Given the description of an element on the screen output the (x, y) to click on. 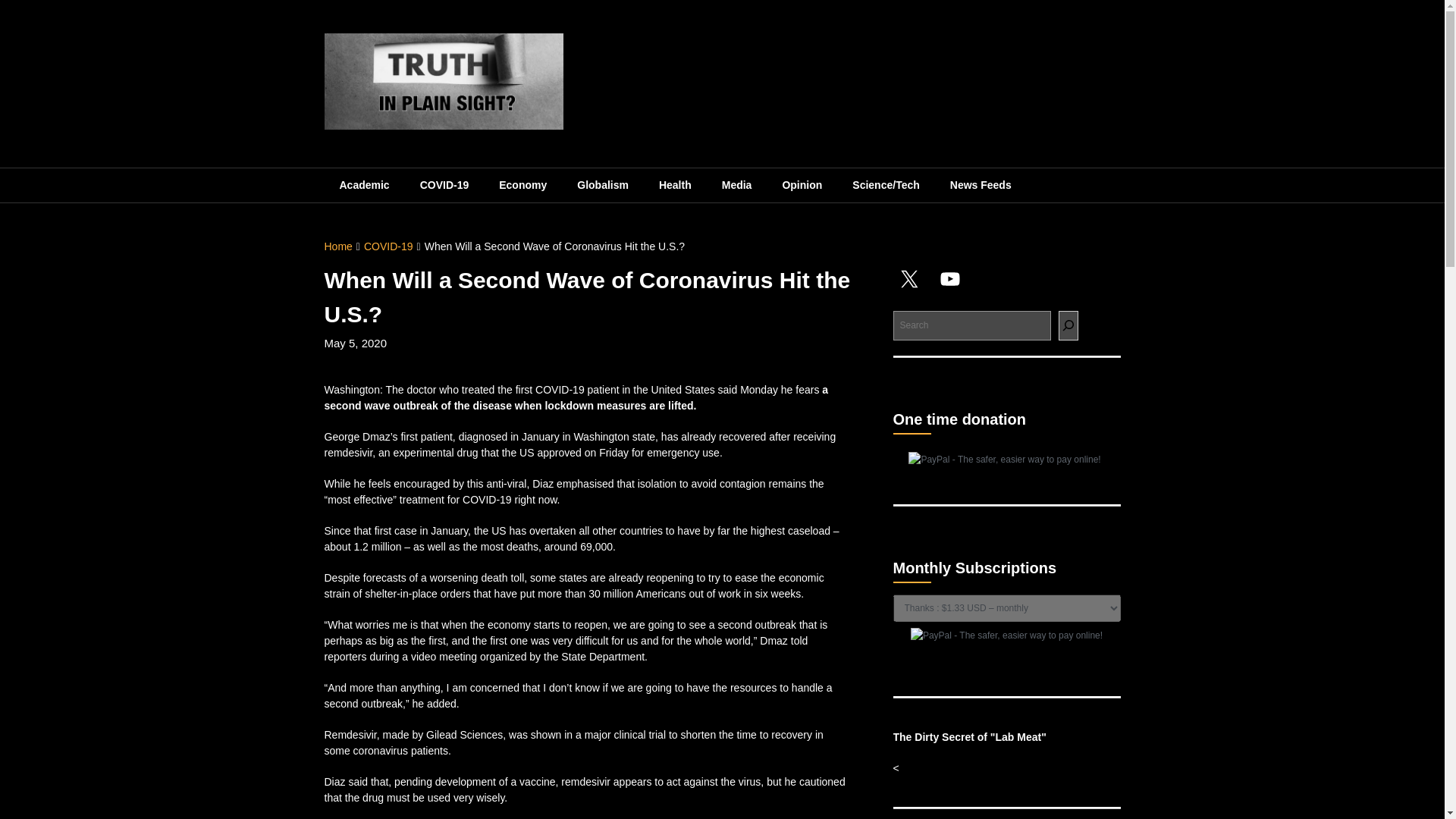
Media (736, 185)
COVID-19 (444, 185)
Globalism (602, 185)
News Feeds (980, 185)
Health (674, 185)
Economy (522, 185)
New (802, 185)
Home (338, 246)
Opinion (802, 185)
COVID-19 (388, 246)
